Given the description of an element on the screen output the (x, y) to click on. 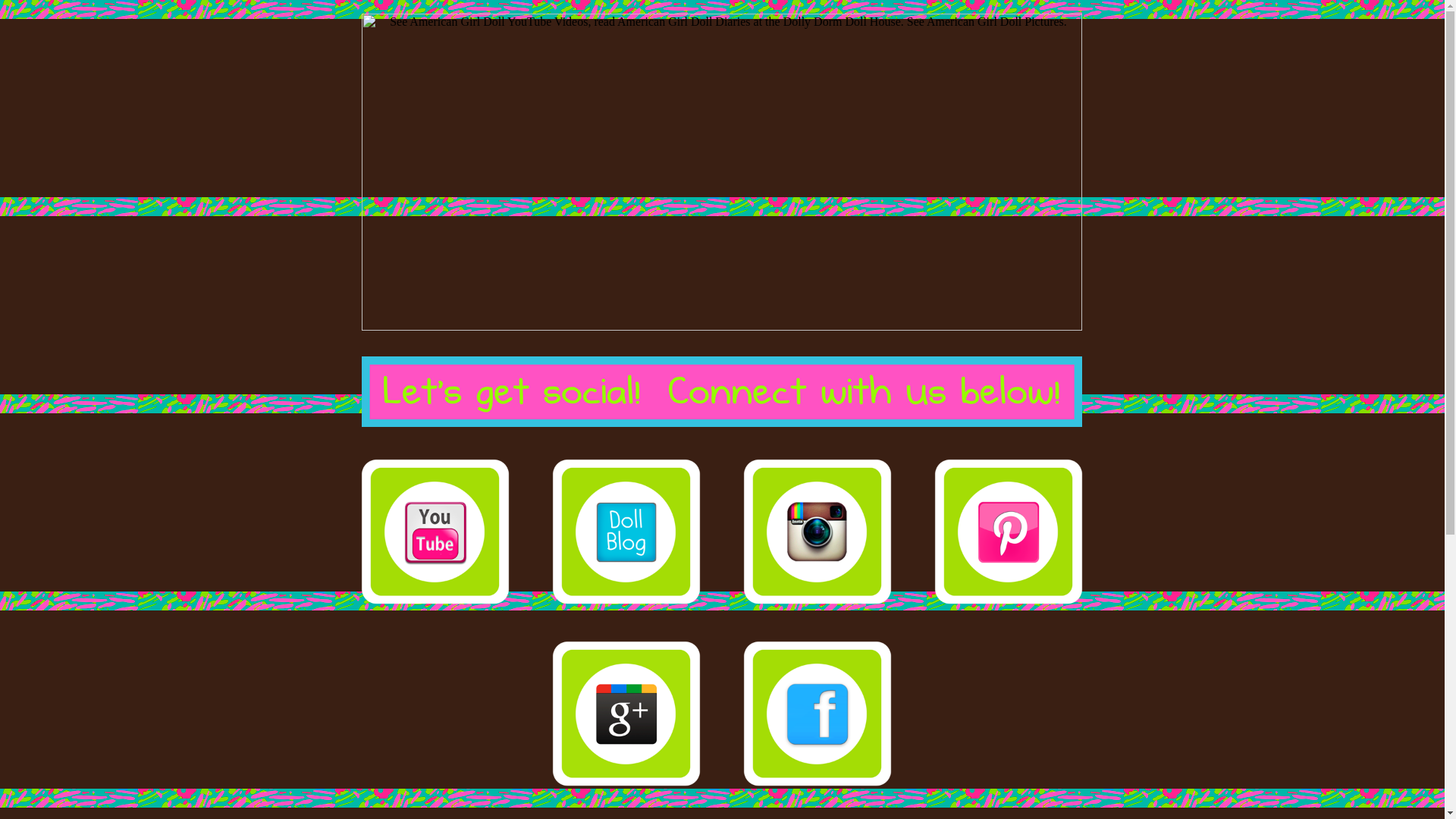
Follow Dolly Dorm Diaries on Instagram (817, 531)
Follow Dolly Dorm Diaries on Pinterest (1008, 531)
Watch Dolly Dorm Diaries on YouTube (435, 531)
Follow Dolly Dorm Diaries on Facebook (817, 713)
Follow Dolly Dorm Diaries Blog (625, 531)
